Given the description of an element on the screen output the (x, y) to click on. 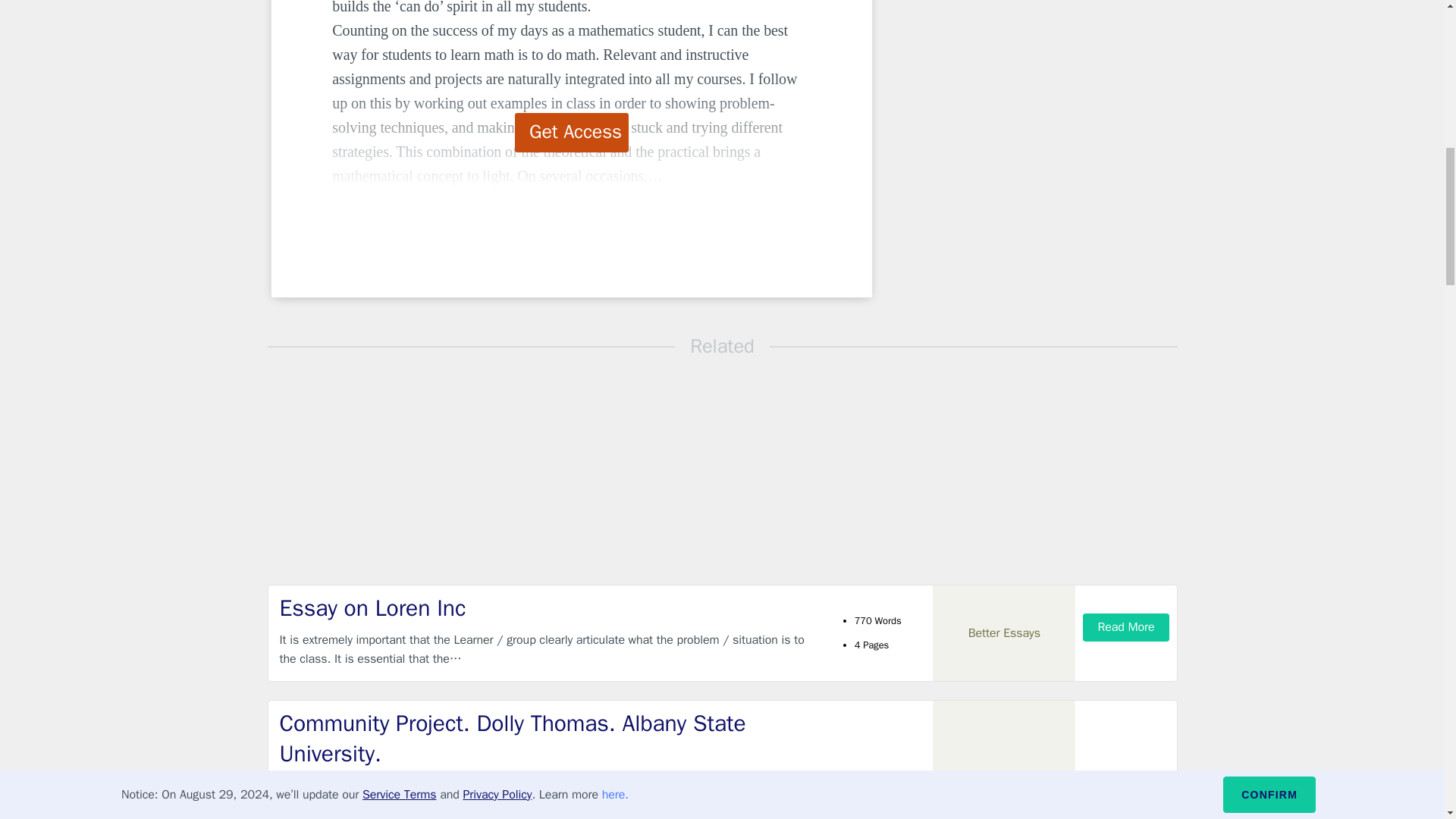
Get Access (571, 132)
Essay on Loren Inc (548, 608)
Community Project. Dolly Thomas. Albany State University. (548, 738)
Read More (1126, 627)
